Given the description of an element on the screen output the (x, y) to click on. 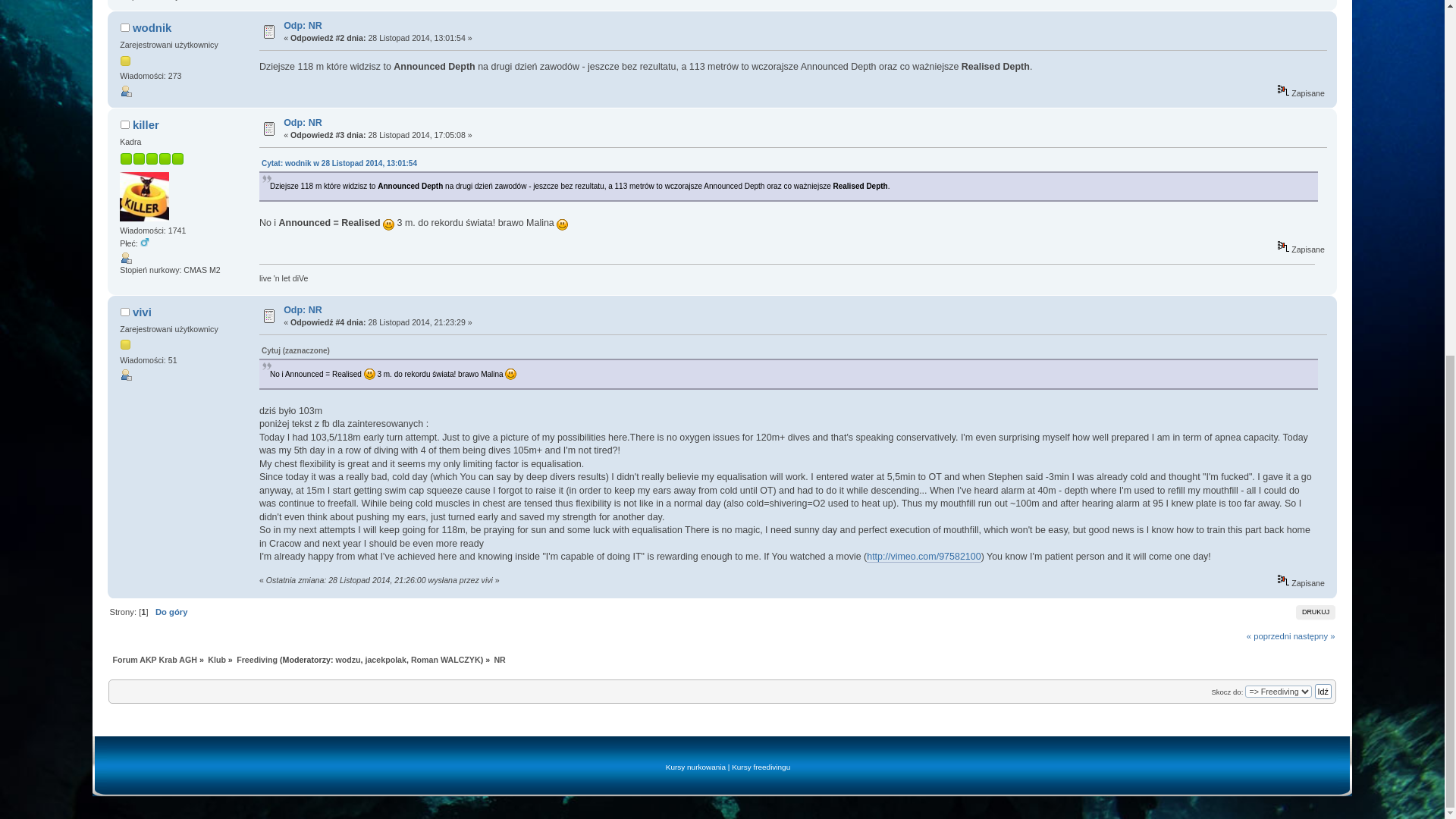
Odp: NR (302, 25)
wodnik (151, 27)
Zobacz profil vivi (141, 311)
Zobacz profil killer (145, 124)
Zobacz profil (125, 374)
Zobacz profil (125, 91)
Zobacz profil (125, 257)
Zobacz profil wodnik (151, 27)
